Given the description of an element on the screen output the (x, y) to click on. 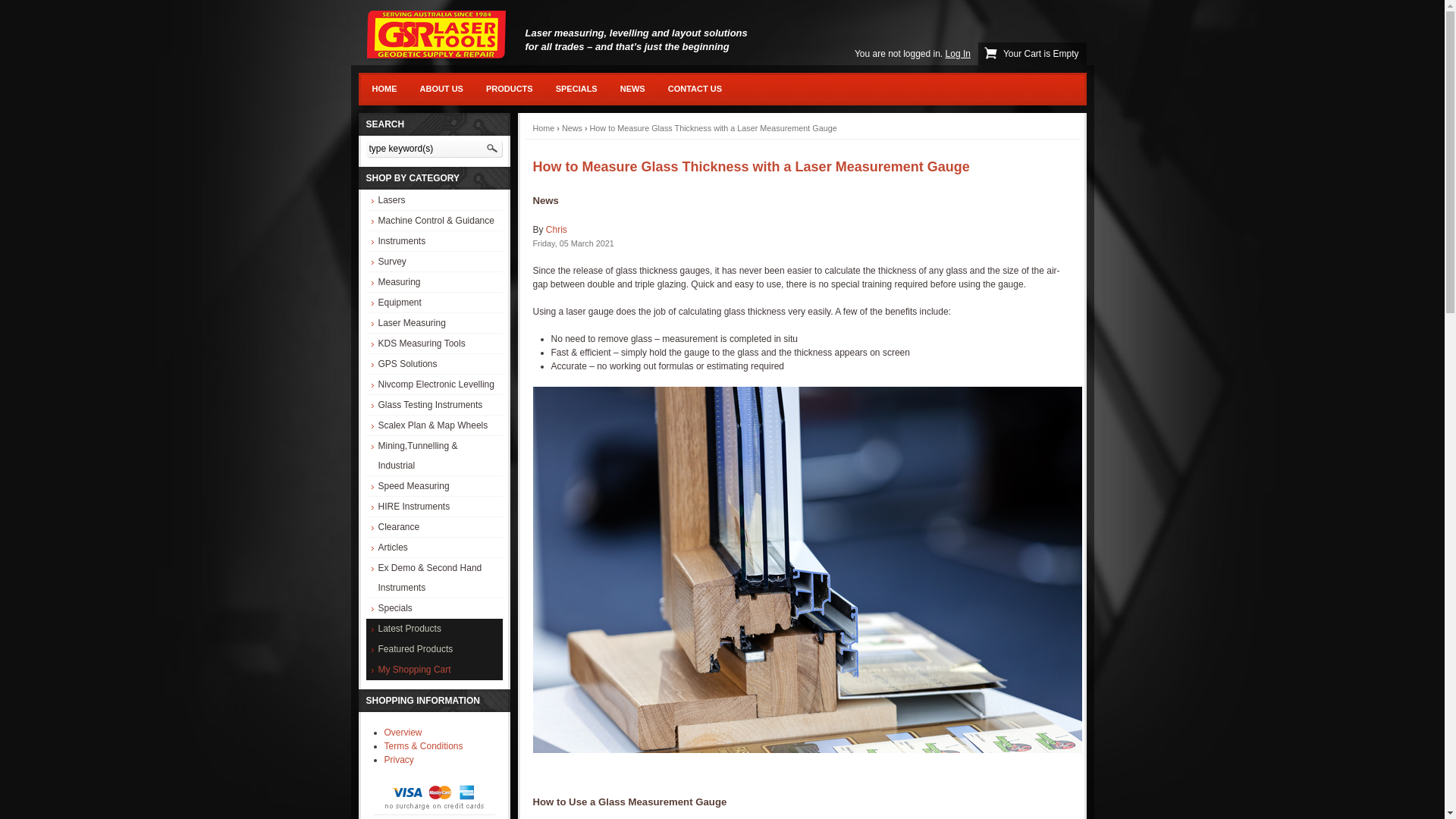
Articles Element type: text (433, 547)
Mining,Tunnelling & Industrial Element type: text (433, 455)
Laser Measuring Element type: text (433, 322)
Equipment Element type: text (433, 302)
Machine Control & Guidance Element type: text (433, 220)
ABOUT US Element type: text (440, 89)
My Shopping Cart Element type: text (433, 669)
Nivcomp Electronic Levelling Element type: text (433, 384)
Chris Element type: text (556, 229)
Speed Measuring Element type: text (433, 485)
Featured Products Element type: text (433, 648)
Search Element type: text (490, 148)
KDS Measuring Tools Element type: text (433, 343)
Instruments Element type: text (433, 241)
CONTACT US Element type: text (694, 89)
Measuring Element type: text (433, 281)
PRODUCTS Element type: text (509, 89)
Lasers Element type: text (433, 200)
Scalex Plan & Map Wheels Element type: text (433, 425)
Specials Element type: text (433, 608)
SPECIALS Element type: text (576, 89)
Latest Products Element type: text (433, 628)
Privacy Element type: text (398, 759)
Survey Element type: text (433, 261)
Overview Element type: text (402, 732)
GPS Solutions Element type: text (433, 363)
NEWS Element type: text (632, 89)
Log In Element type: text (957, 53)
Home Element type: text (543, 127)
Clearance Element type: text (433, 526)
News Element type: text (571, 127)
Ex Demo & Second Hand Instruments Element type: text (433, 577)
Glass Testing Instruments Element type: text (433, 404)
Terms & Conditions Element type: text (422, 745)
HOME Element type: text (384, 89)
HIRE Instruments Element type: text (433, 506)
